Given the description of an element on the screen output the (x, y) to click on. 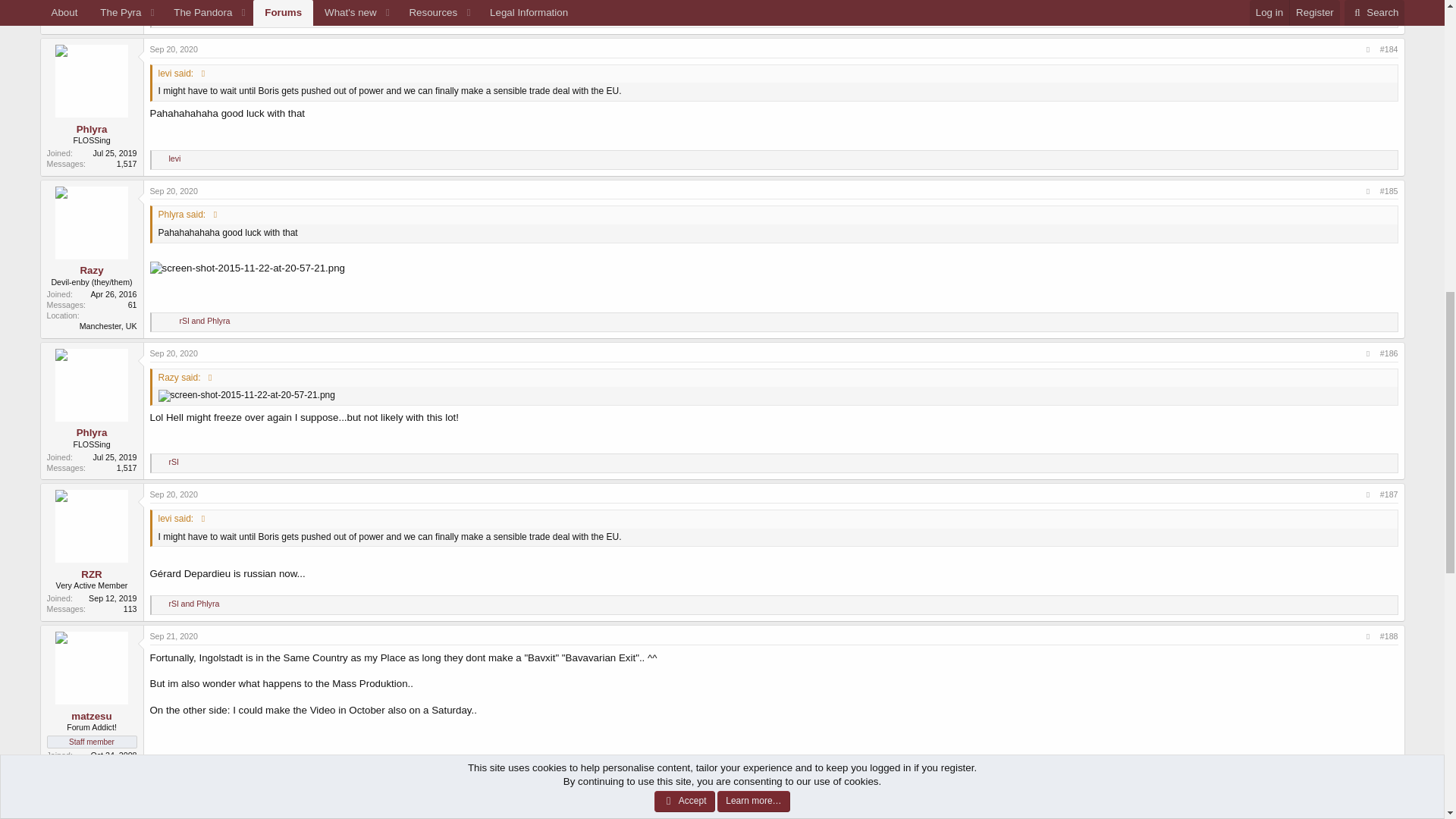
Sad (171, 18)
Sep 20, 2020 at 9:21 AM (173, 49)
Like (160, 18)
